Given the description of an element on the screen output the (x, y) to click on. 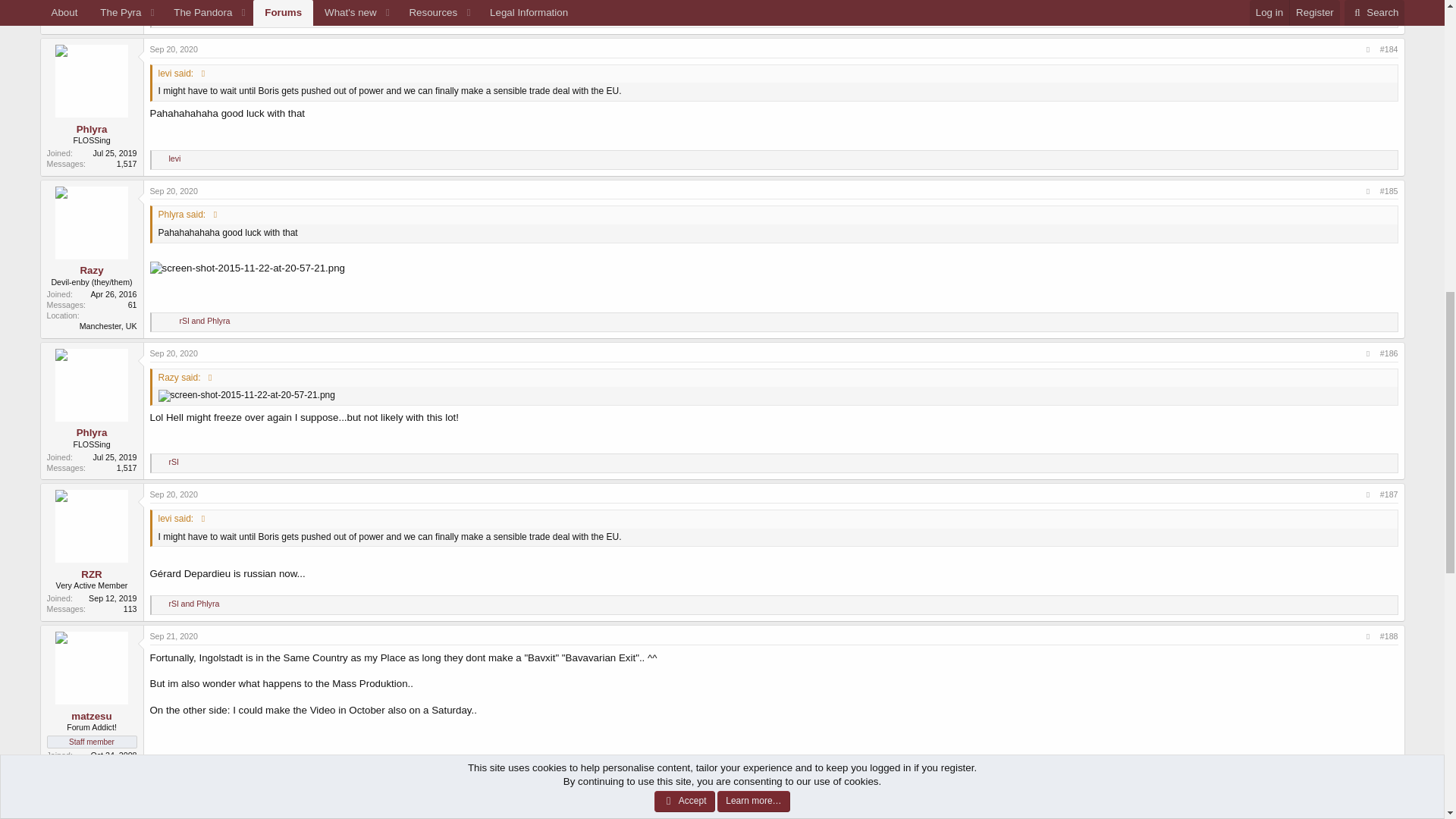
Sad (171, 18)
Sep 20, 2020 at 9:21 AM (173, 49)
Like (160, 18)
